Given the description of an element on the screen output the (x, y) to click on. 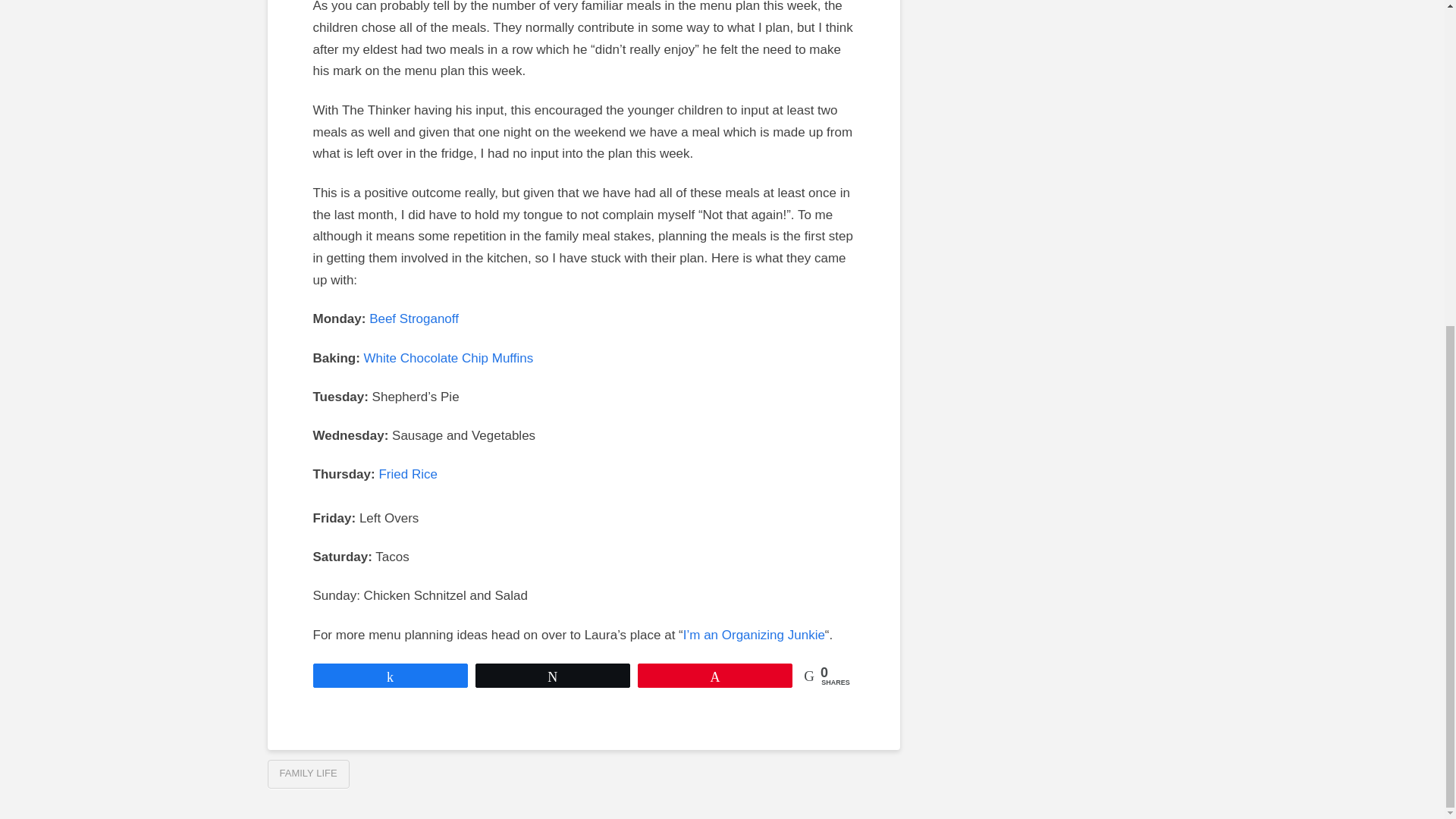
FAMILY LIFE (307, 774)
Fried Rice (407, 473)
Beef Stroganoff (413, 318)
White Chocolate Chip Muffins (449, 358)
